Given the description of an element on the screen output the (x, y) to click on. 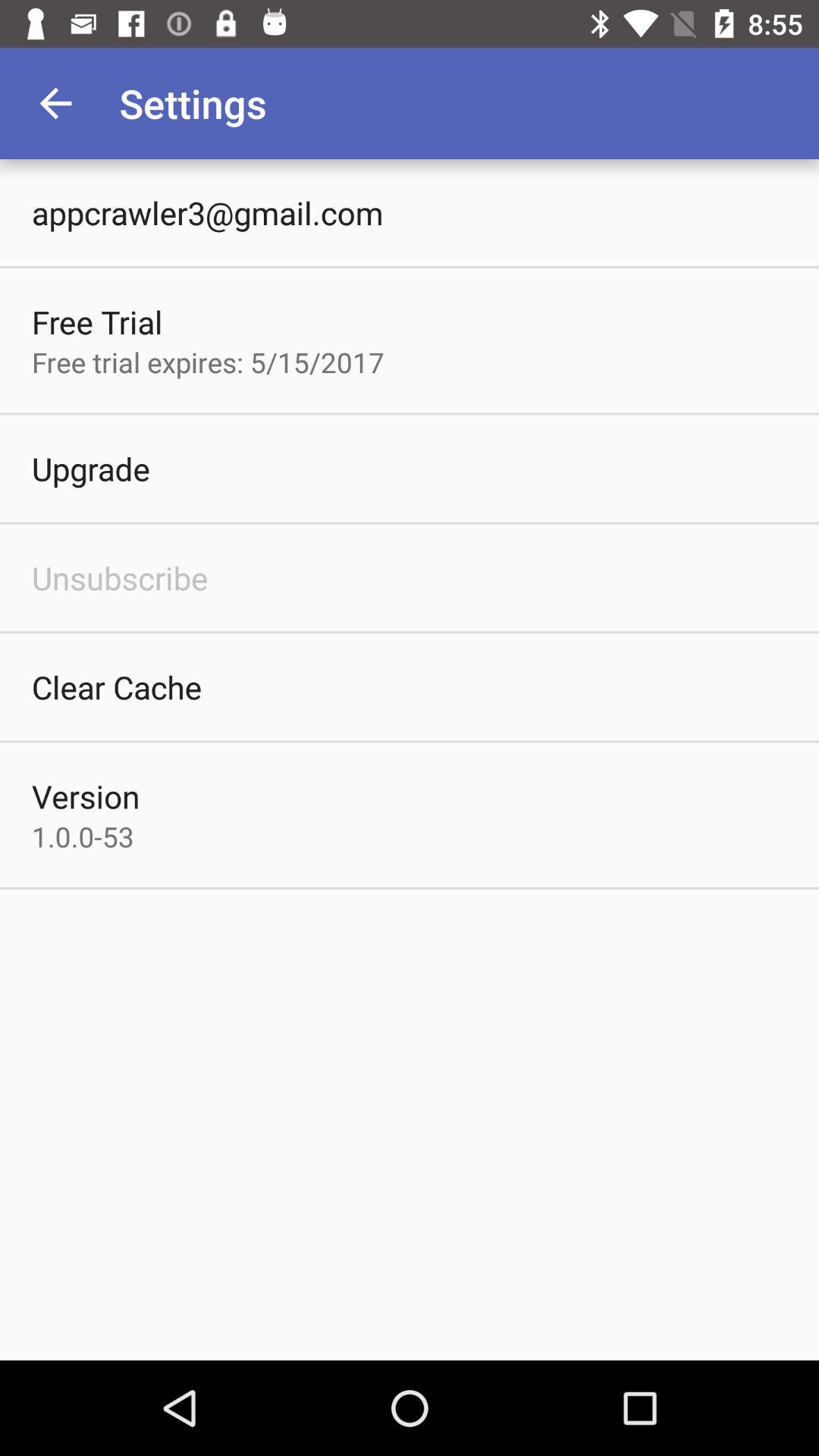
choose the item above the free trial item (207, 212)
